Given the description of an element on the screen output the (x, y) to click on. 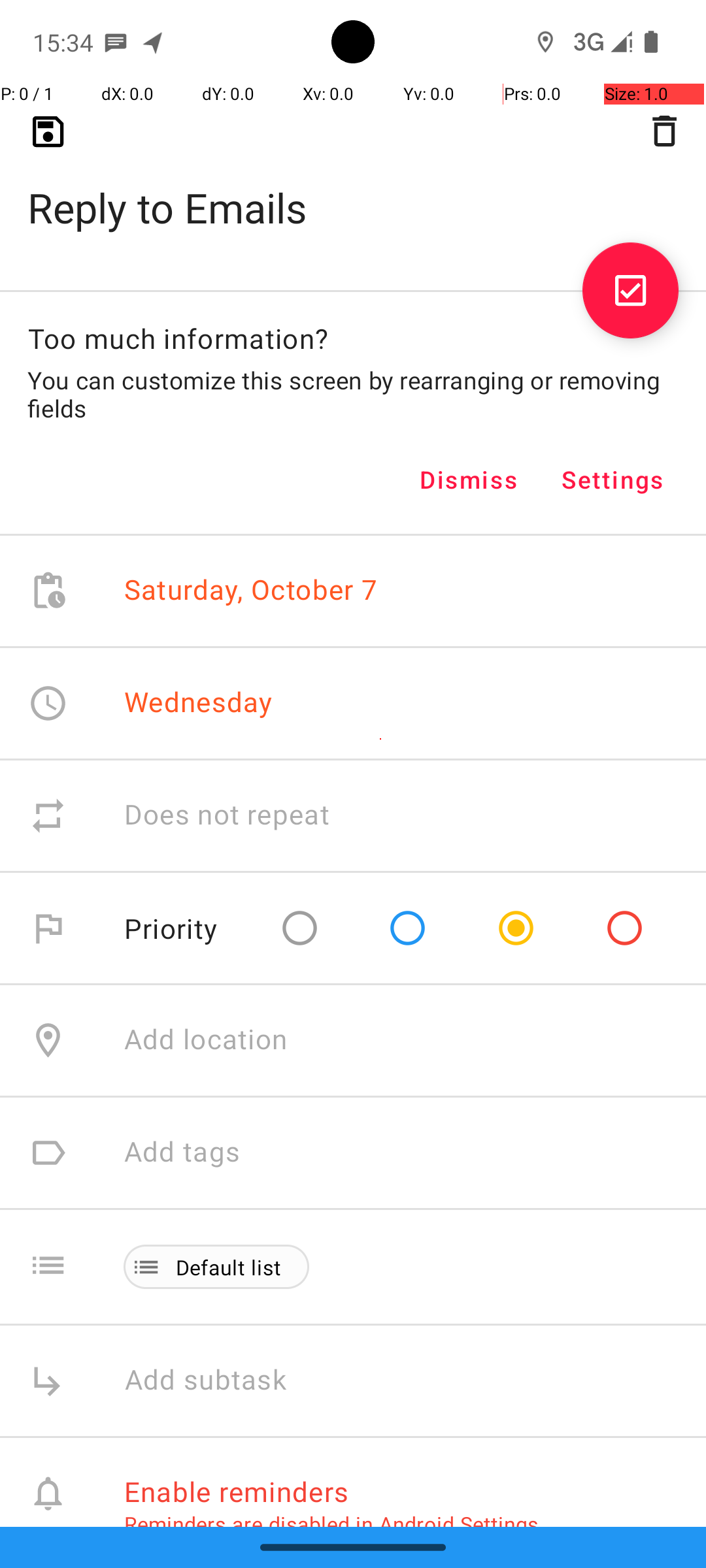
Reply to Emails Element type: android.widget.EditText (353, 186)
Delete task Element type: android.widget.Button (664, 131)
Too much information? Element type: android.widget.TextView (178, 337)
You can customize this screen by rearranging or removing fields Element type: android.widget.TextView (352, 393)
Dismiss Element type: android.widget.TextView (468, 479)
Default list Element type: android.widget.TextView (228, 1267)
Saturday, October 7 Element type: android.widget.TextView (250, 590)
Does not repeat Element type: android.widget.TextView (226, 815)
Add location Element type: android.widget.TextView (205, 1040)
Add tags Element type: android.widget.TextView (182, 1152)
Add subtask Element type: android.widget.TextView (219, 1380)
Enable reminders Element type: android.widget.TextView (236, 1490)
Reminders are disabled in Android Settings Element type: android.widget.TextView (331, 1523)
